Given the description of an element on the screen output the (x, y) to click on. 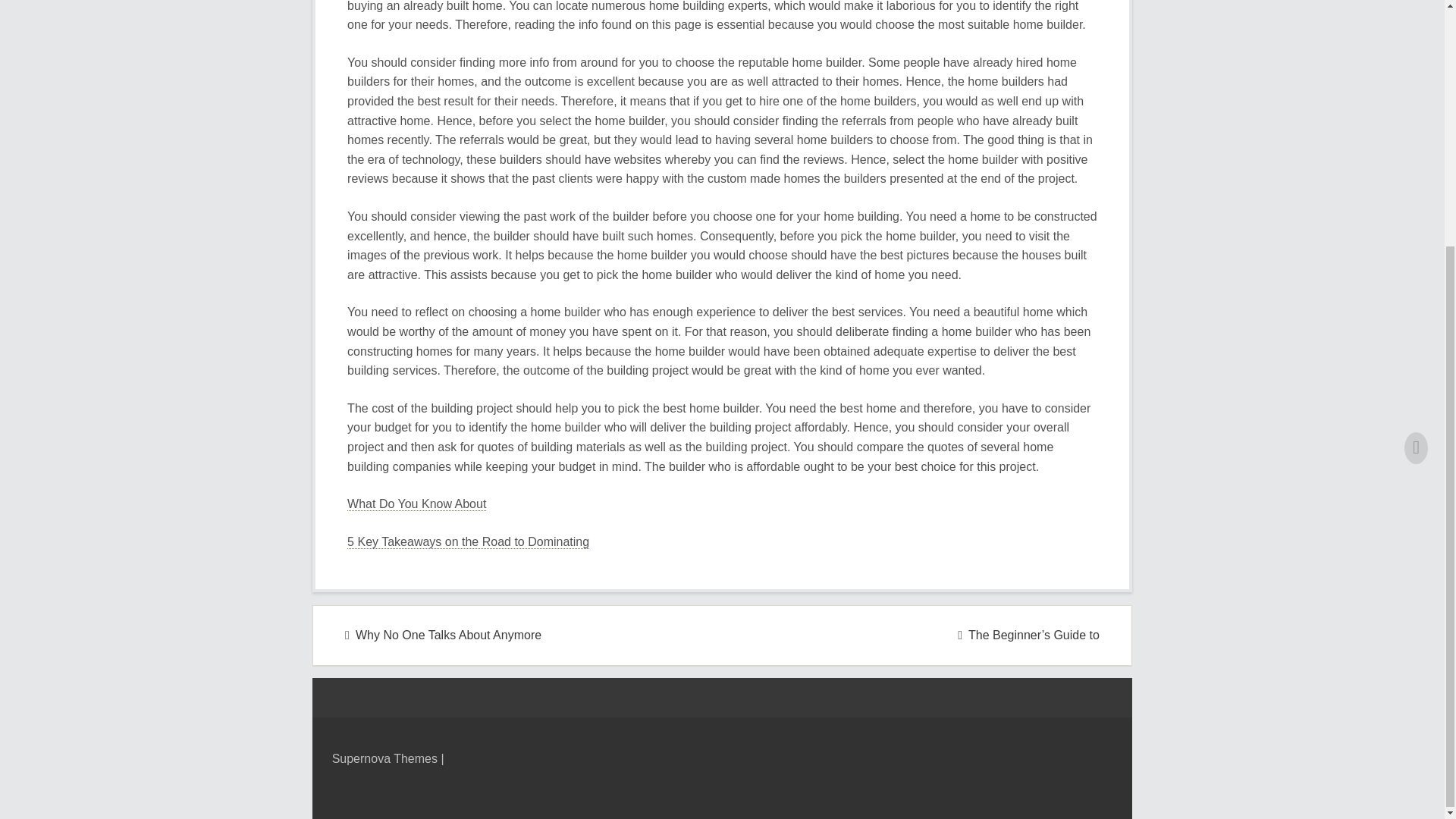
5 Key Takeaways on the Road to Dominating (468, 541)
Why No One Talks About Anymore (443, 635)
What Do You Know About (416, 504)
